Given the description of an element on the screen output the (x, y) to click on. 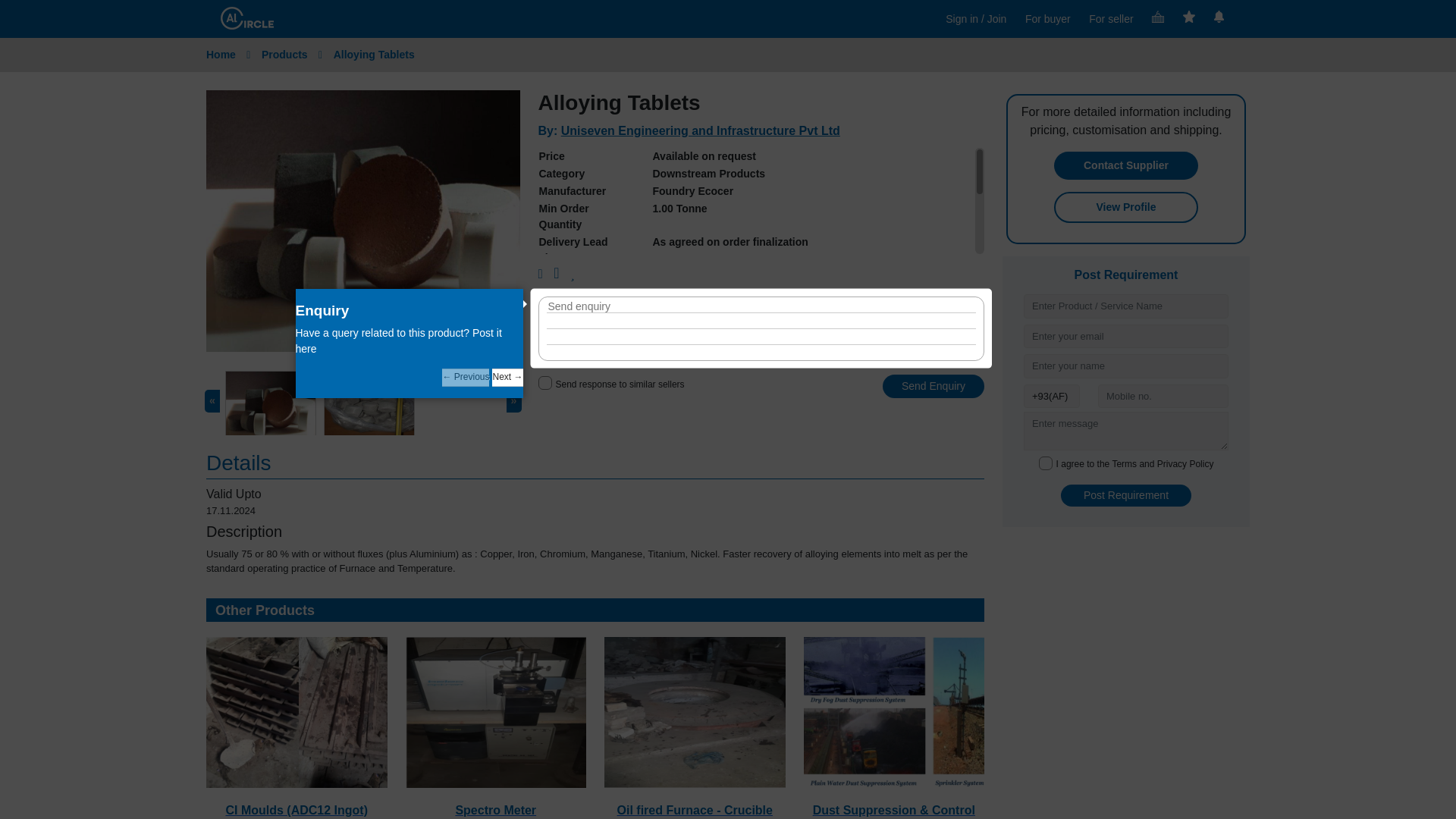
For buyer (1047, 19)
For seller (1110, 19)
Send Enquiry (933, 386)
